Given the description of an element on the screen output the (x, y) to click on. 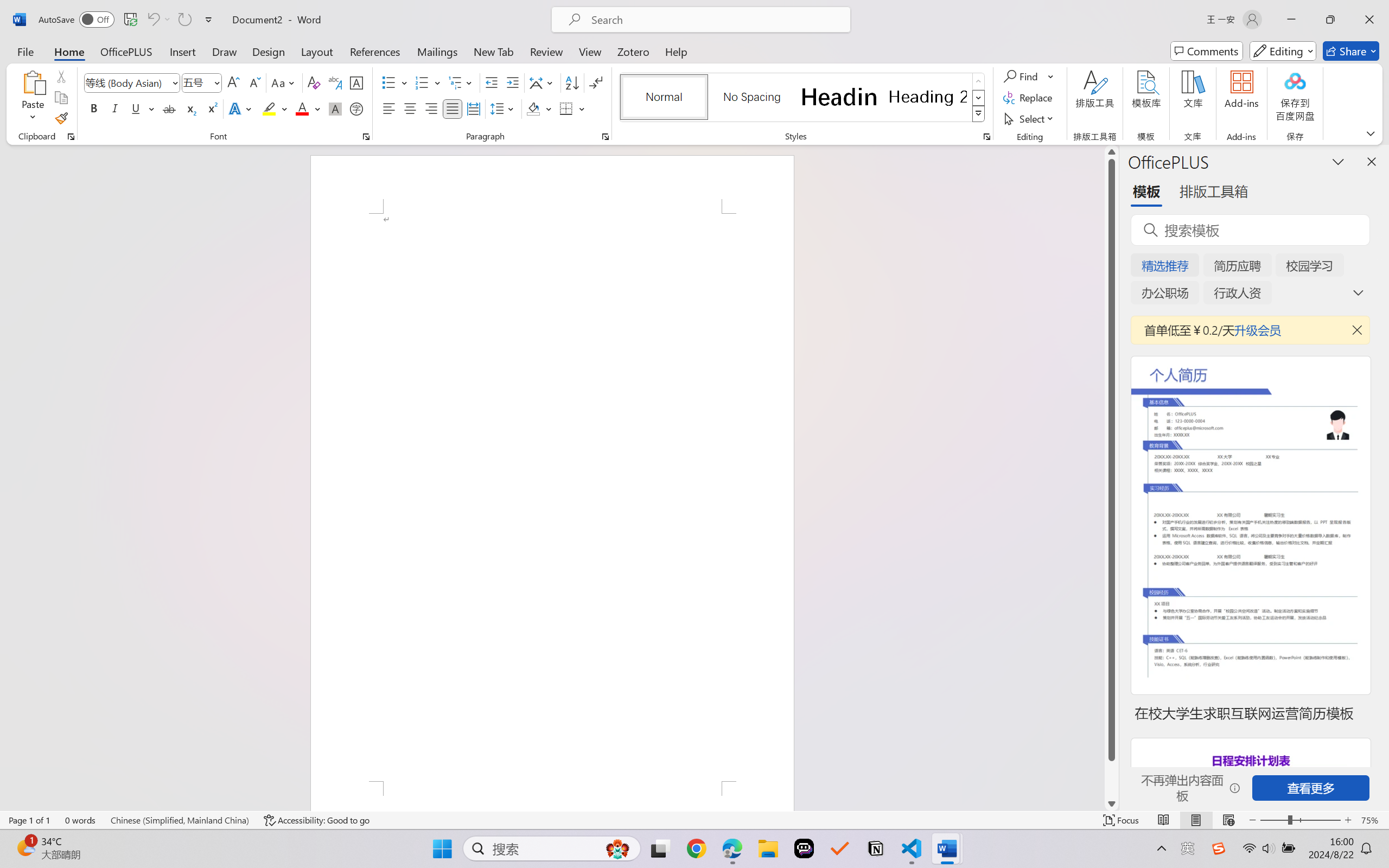
Web Layout (1228, 819)
Design (268, 51)
Replace... (1029, 97)
Find (1029, 75)
Italic (115, 108)
Styles... (986, 136)
Align Right (431, 108)
Can't Repeat (184, 19)
Line down (1111, 803)
Select (1030, 118)
Read Mode (1163, 819)
